Given the description of an element on the screen output the (x, y) to click on. 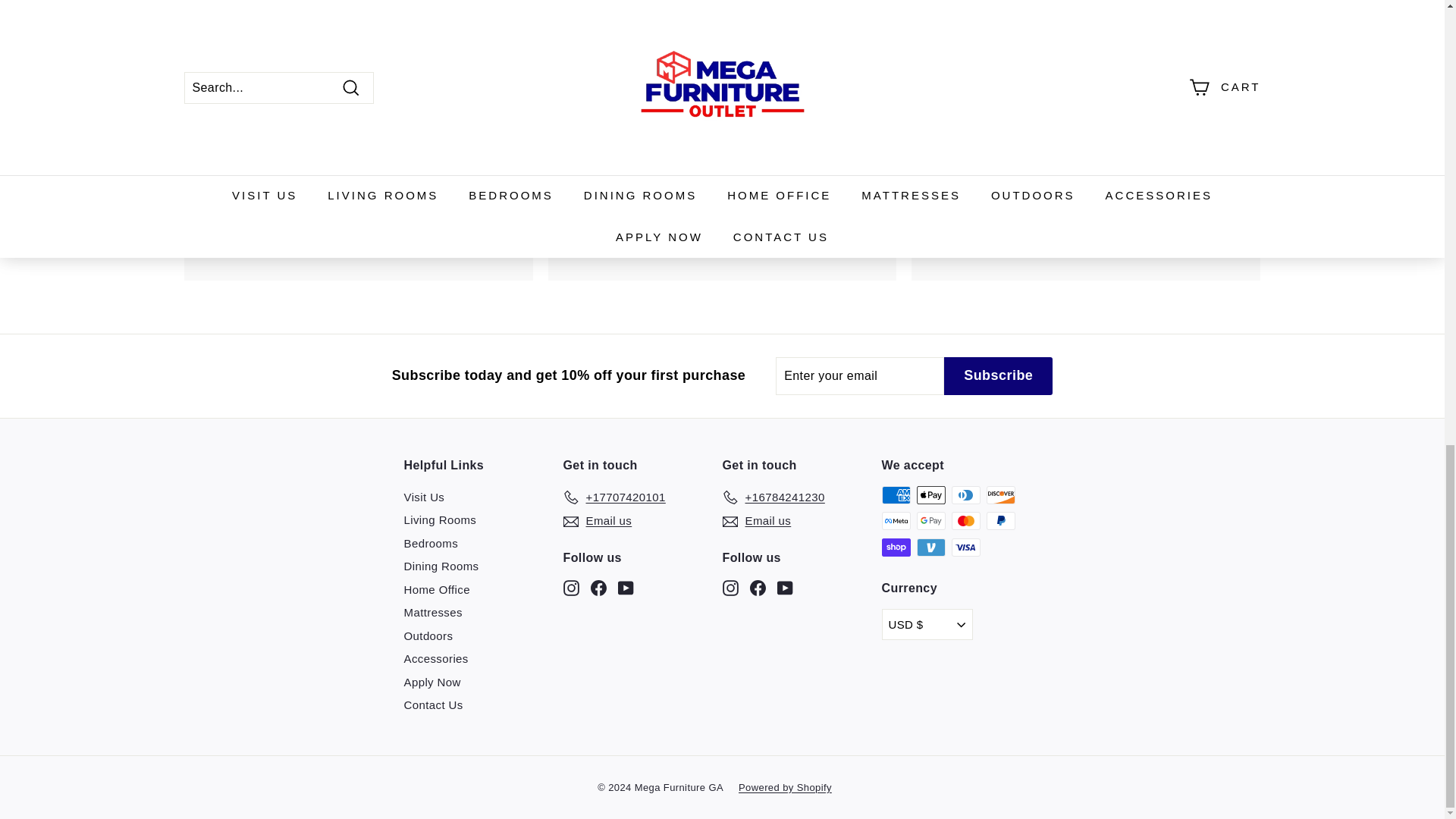
Mega Furniture GA on YouTube (625, 587)
Mega Furniture GA on Facebook (597, 587)
Mega Furniture GA on YouTube (784, 587)
Mega Furniture GA on Instagram (570, 587)
Mega Furniture GA on Facebook (757, 587)
Mega Furniture GA on Instagram (730, 587)
American Express (895, 495)
Apple Pay (929, 495)
